Given the description of an element on the screen output the (x, y) to click on. 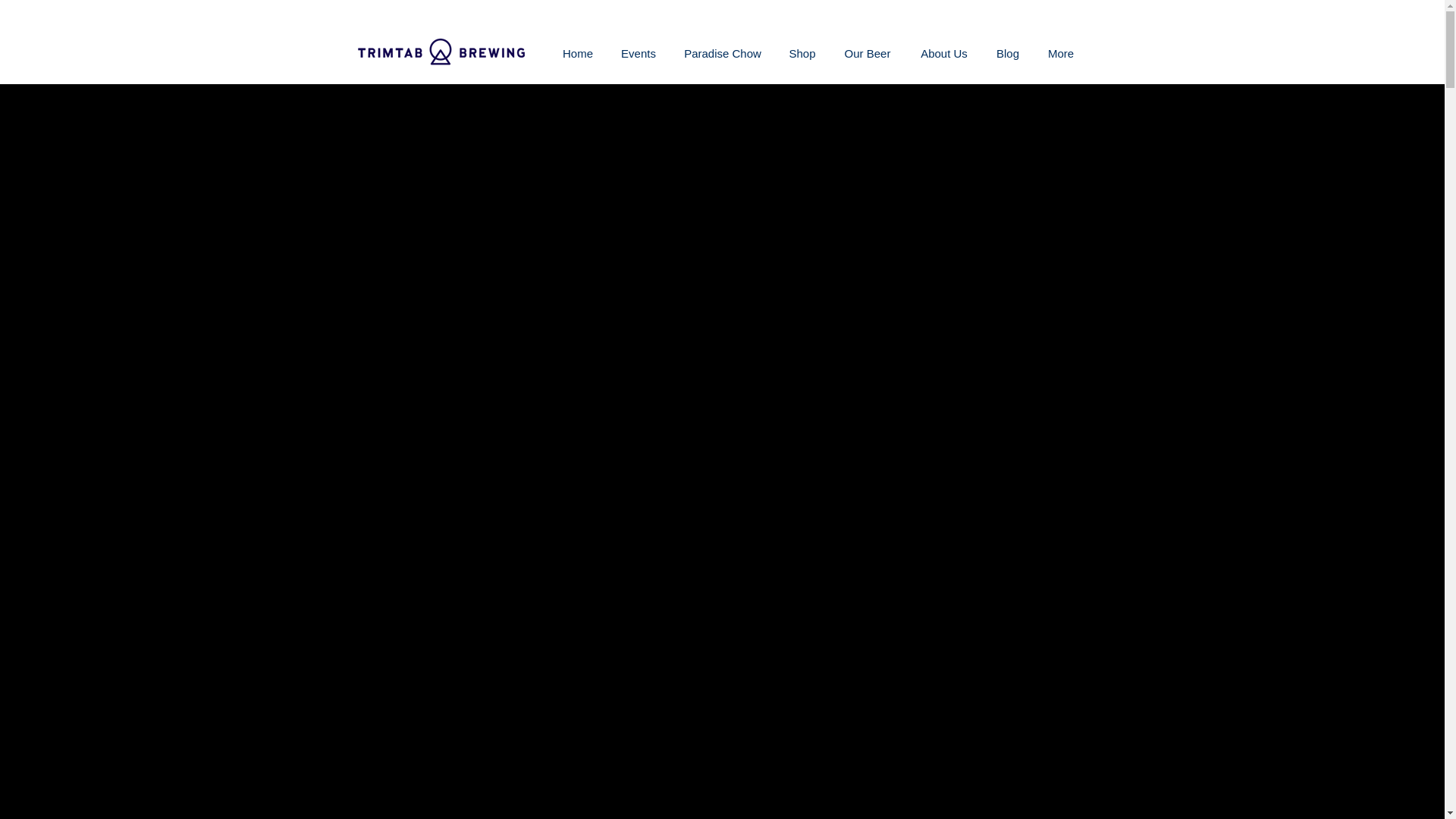
Home (577, 53)
Our Beer (867, 53)
Blog (1007, 53)
About Us (943, 53)
Paradise Chow (722, 53)
Events (638, 53)
Shop (801, 53)
